Given the description of an element on the screen output the (x, y) to click on. 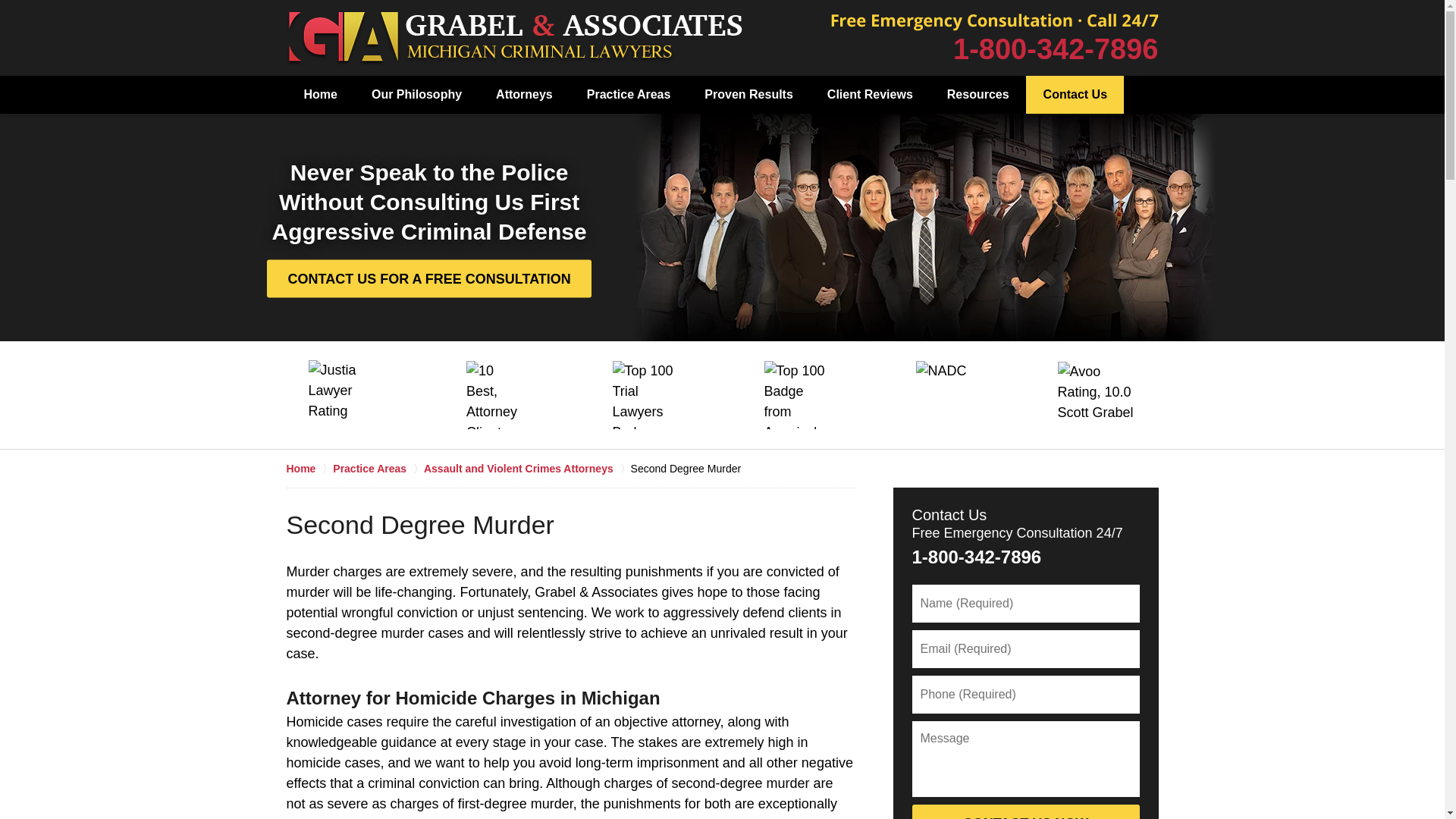
1-800-342-7896 (1055, 49)
Practice Areas (628, 94)
CONTACT US FOR A FREE CONSULTATION (428, 278)
Home (319, 94)
Proven Results (748, 94)
Resources (978, 94)
Contact Us (1075, 94)
Attorneys (524, 94)
Back to Home (514, 37)
Our Philosophy (416, 94)
Client Reviews (869, 94)
